Given the description of an element on the screen output the (x, y) to click on. 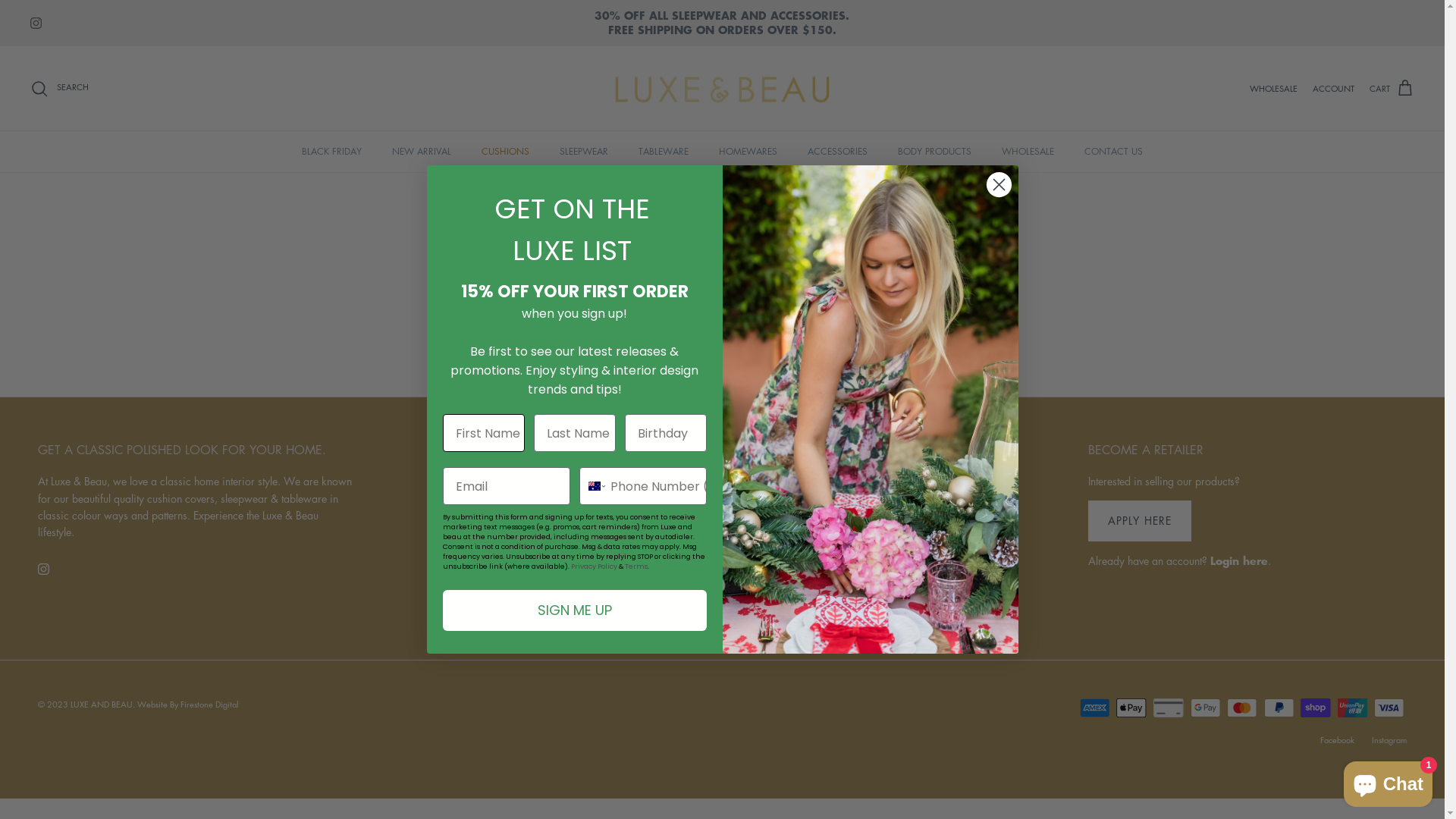
APPLY HERE Element type: text (1139, 521)
CART Element type: text (1391, 88)
Accessories Element type: text (572, 569)
TABLEWARE Element type: text (663, 151)
Website By Firestone Digital Element type: text (187, 703)
SLEEPWEAR Element type: text (583, 151)
Returns Policy Element type: text (830, 525)
HOMEWARES Element type: text (747, 151)
Instagram Element type: text (35, 22)
Sleepwear Element type: text (569, 503)
BLACK FRIDAY Element type: text (331, 151)
Submit Element type: text (37, 16)
Privacy Policy Element type: text (830, 547)
try a search Element type: text (822, 312)
SEARCH Element type: text (59, 87)
Homewares Element type: text (572, 547)
Terms Element type: text (635, 566)
Body Products Element type: text (577, 591)
CUSHIONS Element type: text (504, 151)
Instagram Element type: text (43, 568)
Australia Element type: hover (594, 486)
ACCESSORIES Element type: text (837, 151)
Shopify online store chat Element type: hover (1388, 780)
Close dialog 1 Element type: text (998, 184)
LUXE AND BEAU Element type: text (101, 703)
Contact us Element type: text (823, 503)
Instagram Element type: text (1388, 739)
WHOLESALE Element type: text (1273, 88)
Login here Element type: text (1238, 559)
About us Element type: text (819, 480)
NEW ARRIVAL Element type: text (421, 151)
LUXE AND BEAU Element type: hover (721, 88)
ACCOUNT Element type: text (1333, 88)
SIGN ME UP Element type: text (574, 609)
Privacy Policy Element type: text (593, 566)
WHOLESALE Element type: text (1027, 151)
Cushions Element type: text (565, 480)
Tableware Element type: text (569, 525)
CONTACT US Element type: text (1113, 151)
Facebook Element type: text (1337, 739)
home page Element type: text (753, 312)
Terms and Conditions Element type: text (849, 569)
BODY PRODUCTS Element type: text (934, 151)
